Given the description of an element on the screen output the (x, y) to click on. 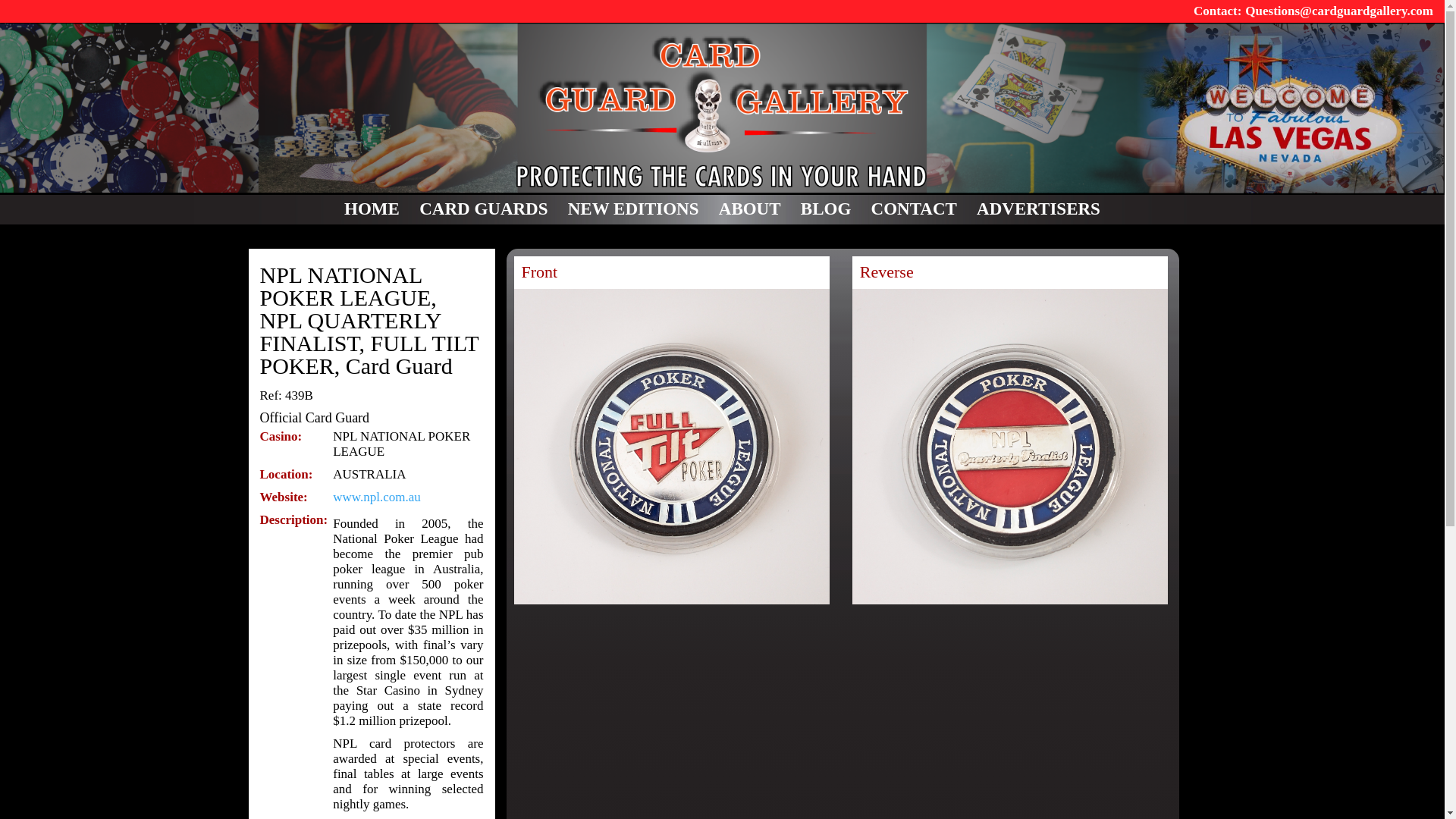
CONTACT (913, 208)
HOME (370, 208)
ADVERTISERS (1038, 208)
BLOG (825, 208)
ABOUT (749, 208)
NEW EDITIONS (632, 208)
www.npl.com.au (376, 496)
CARD GUARDS (483, 208)
